Given the description of an element on the screen output the (x, y) to click on. 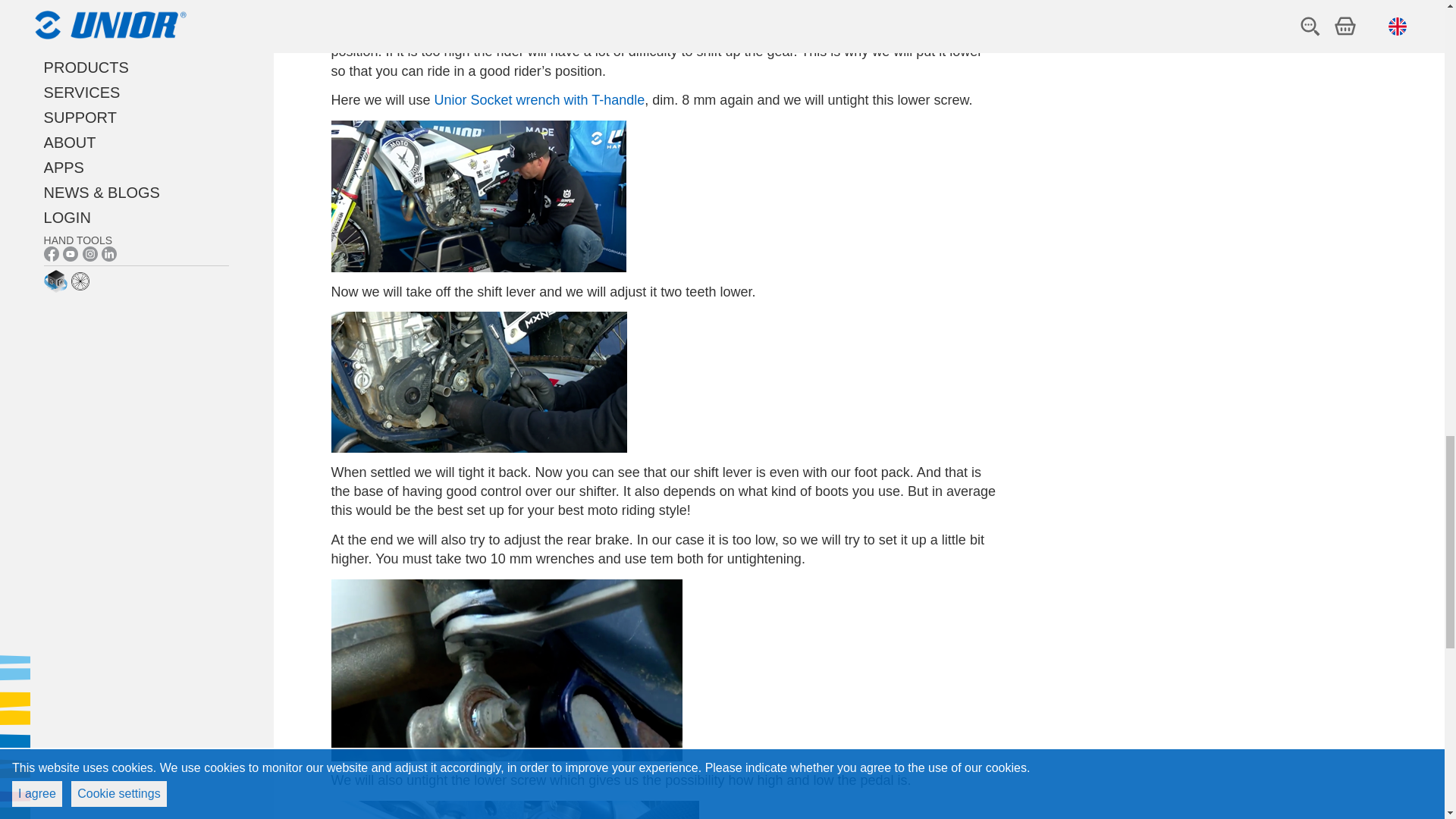
Unior Socket wrench with T-handle (539, 99)
